Given the description of an element on the screen output the (x, y) to click on. 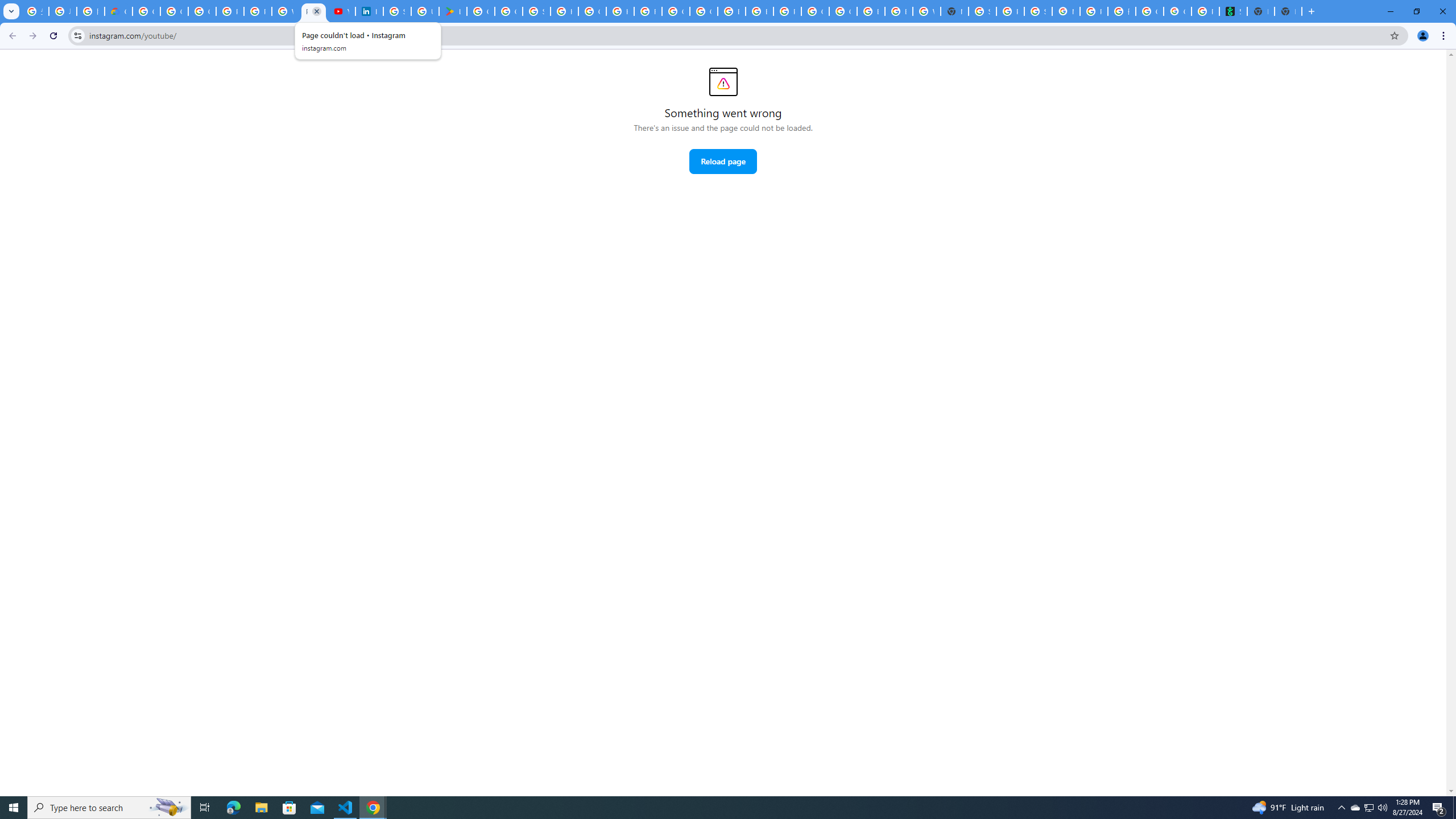
Browse Chrome as a guest - Computer - Google Chrome Help (731, 11)
Google Workspace - Specific Terms (508, 11)
Browse Chrome as a guest - Computer - Google Chrome Help (870, 11)
